Given the description of an element on the screen output the (x, y) to click on. 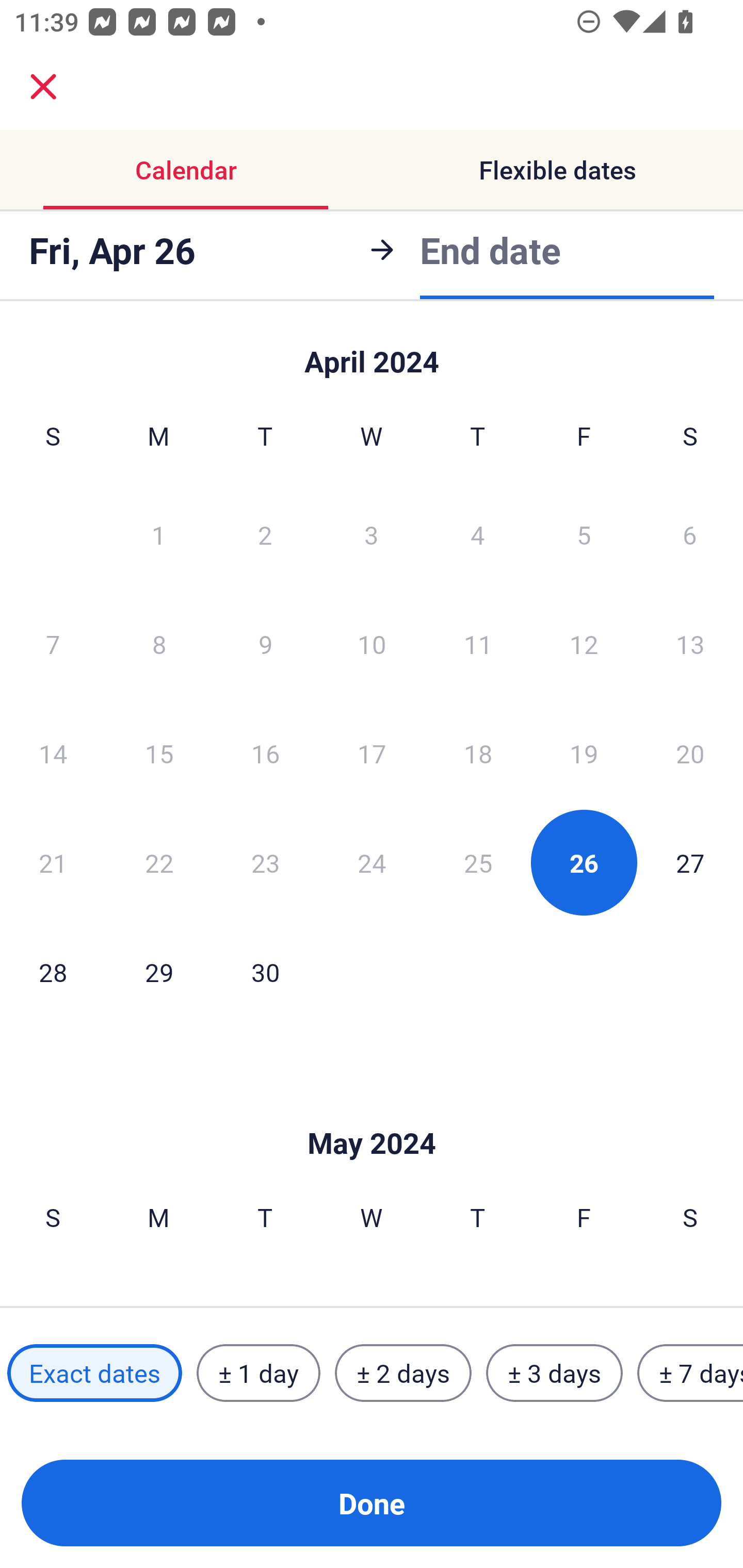
close. (43, 86)
Flexible dates (557, 170)
End date (489, 247)
Skip to Done (371, 352)
1 Monday, April 1, 2024 (158, 534)
2 Tuesday, April 2, 2024 (264, 534)
3 Wednesday, April 3, 2024 (371, 534)
4 Thursday, April 4, 2024 (477, 534)
5 Friday, April 5, 2024 (583, 534)
6 Saturday, April 6, 2024 (689, 534)
7 Sunday, April 7, 2024 (53, 643)
8 Monday, April 8, 2024 (159, 643)
9 Tuesday, April 9, 2024 (265, 643)
10 Wednesday, April 10, 2024 (371, 643)
11 Thursday, April 11, 2024 (477, 643)
12 Friday, April 12, 2024 (584, 643)
13 Saturday, April 13, 2024 (690, 643)
14 Sunday, April 14, 2024 (53, 752)
15 Monday, April 15, 2024 (159, 752)
16 Tuesday, April 16, 2024 (265, 752)
17 Wednesday, April 17, 2024 (371, 752)
18 Thursday, April 18, 2024 (477, 752)
19 Friday, April 19, 2024 (584, 752)
20 Saturday, April 20, 2024 (690, 752)
21 Sunday, April 21, 2024 (53, 862)
22 Monday, April 22, 2024 (159, 862)
23 Tuesday, April 23, 2024 (265, 862)
24 Wednesday, April 24, 2024 (371, 862)
25 Thursday, April 25, 2024 (477, 862)
27 Saturday, April 27, 2024 (690, 862)
28 Sunday, April 28, 2024 (53, 971)
29 Monday, April 29, 2024 (159, 971)
30 Tuesday, April 30, 2024 (265, 971)
Skip to Done (371, 1112)
Exact dates (94, 1372)
± 1 day (258, 1372)
± 2 days (403, 1372)
± 3 days (553, 1372)
± 7 days (690, 1372)
Done (371, 1502)
